Given the description of an element on the screen output the (x, y) to click on. 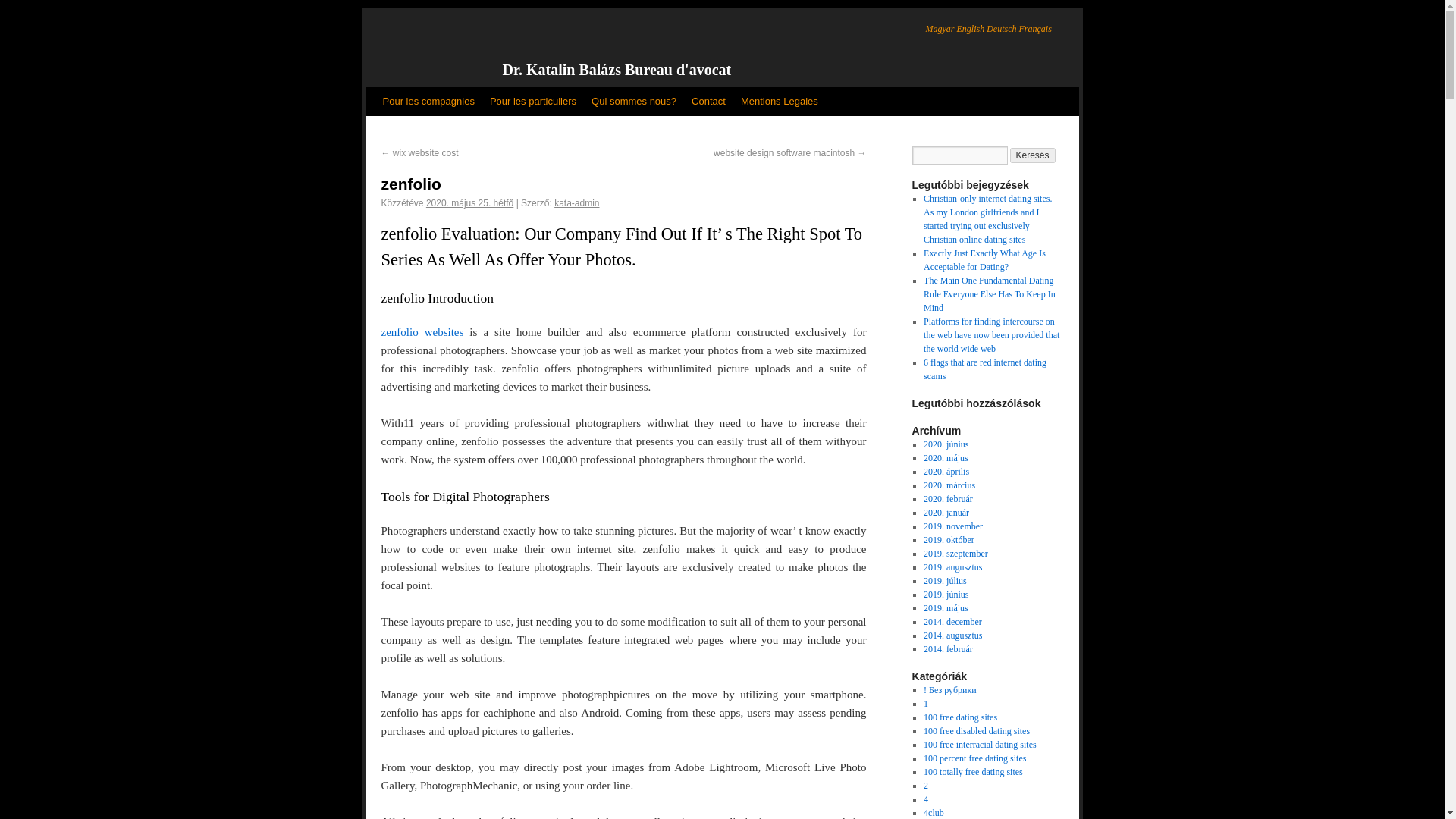
kata-admin (576, 203)
Magyar (938, 28)
Contact (708, 101)
Pour les particuliers (532, 101)
10:32 (469, 203)
Mentions Legales (779, 101)
zenfolio websites (421, 331)
Pour les compagnies (427, 101)
Deutsch (1001, 28)
Qui sommes nous? (633, 101)
English (970, 28)
